Given the description of an element on the screen output the (x, y) to click on. 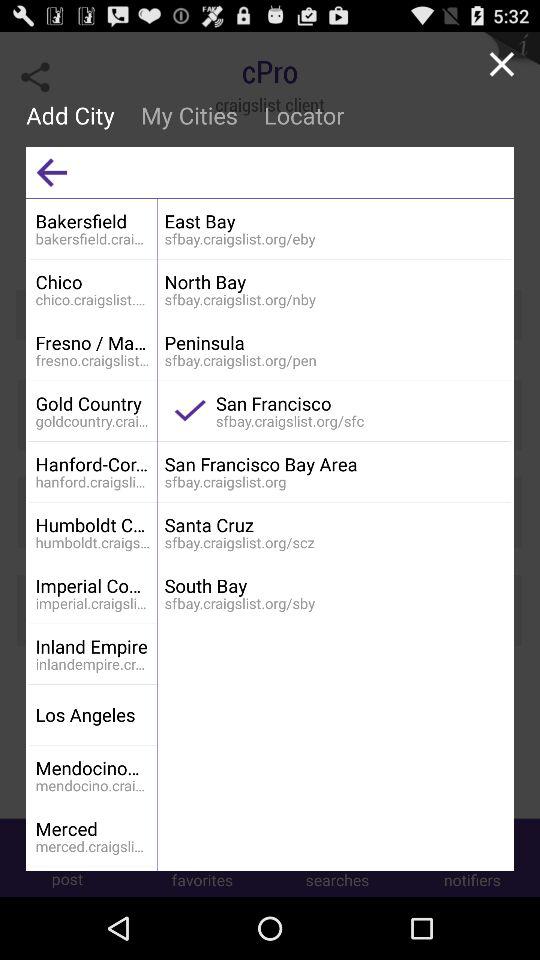
scroll to the east bay icon (334, 220)
